Given the description of an element on the screen output the (x, y) to click on. 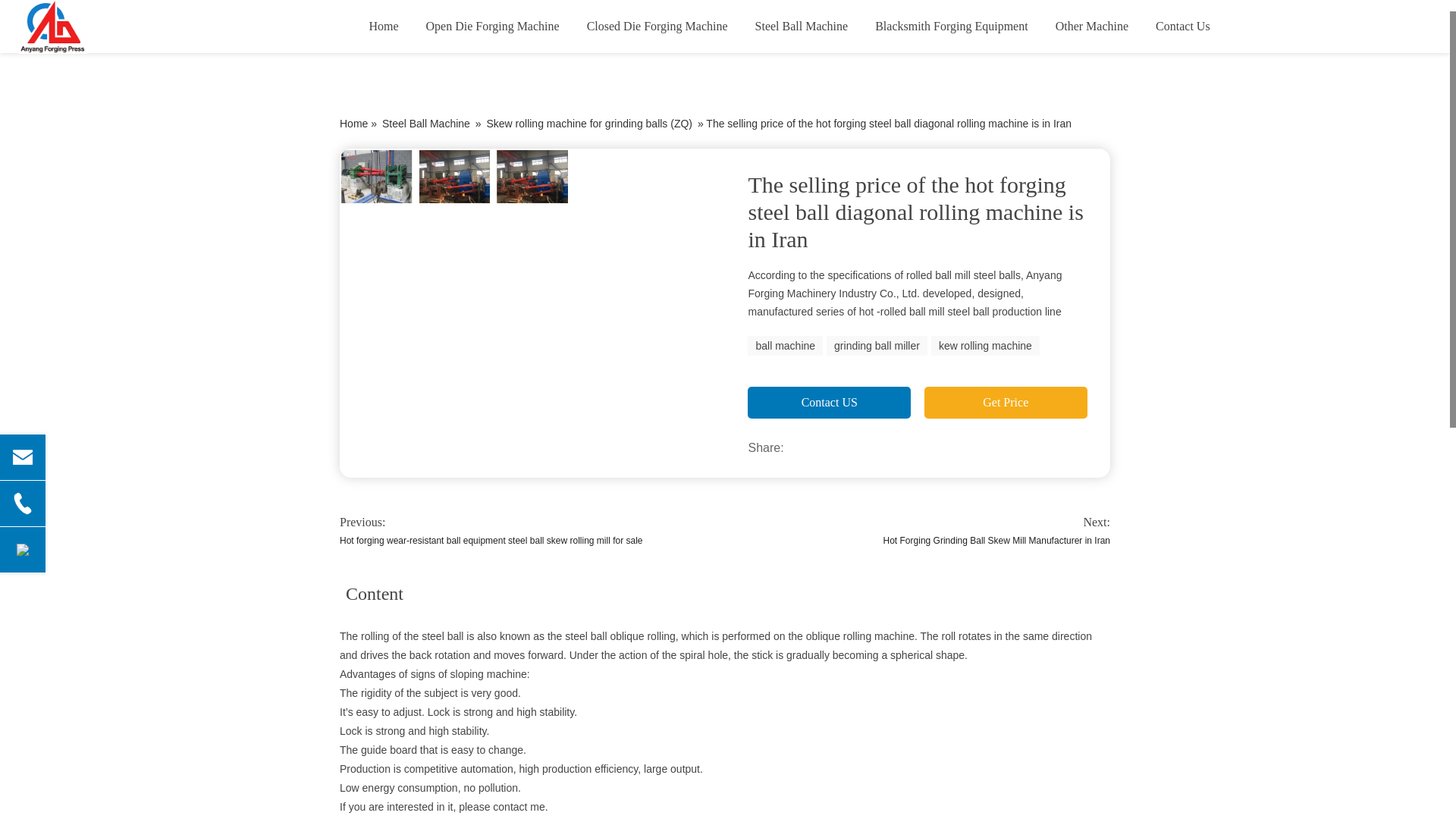
Steel Ball Machine (801, 26)
Blacksmith Forging Equipment (951, 26)
Home (383, 26)
Anyang Forging Press Machine Factory (94, 26)
Closed Die Forging Machine (657, 26)
Other Machine (1091, 26)
Open Die Forging Machine (492, 26)
Contact Us (1182, 26)
